Given the description of an element on the screen output the (x, y) to click on. 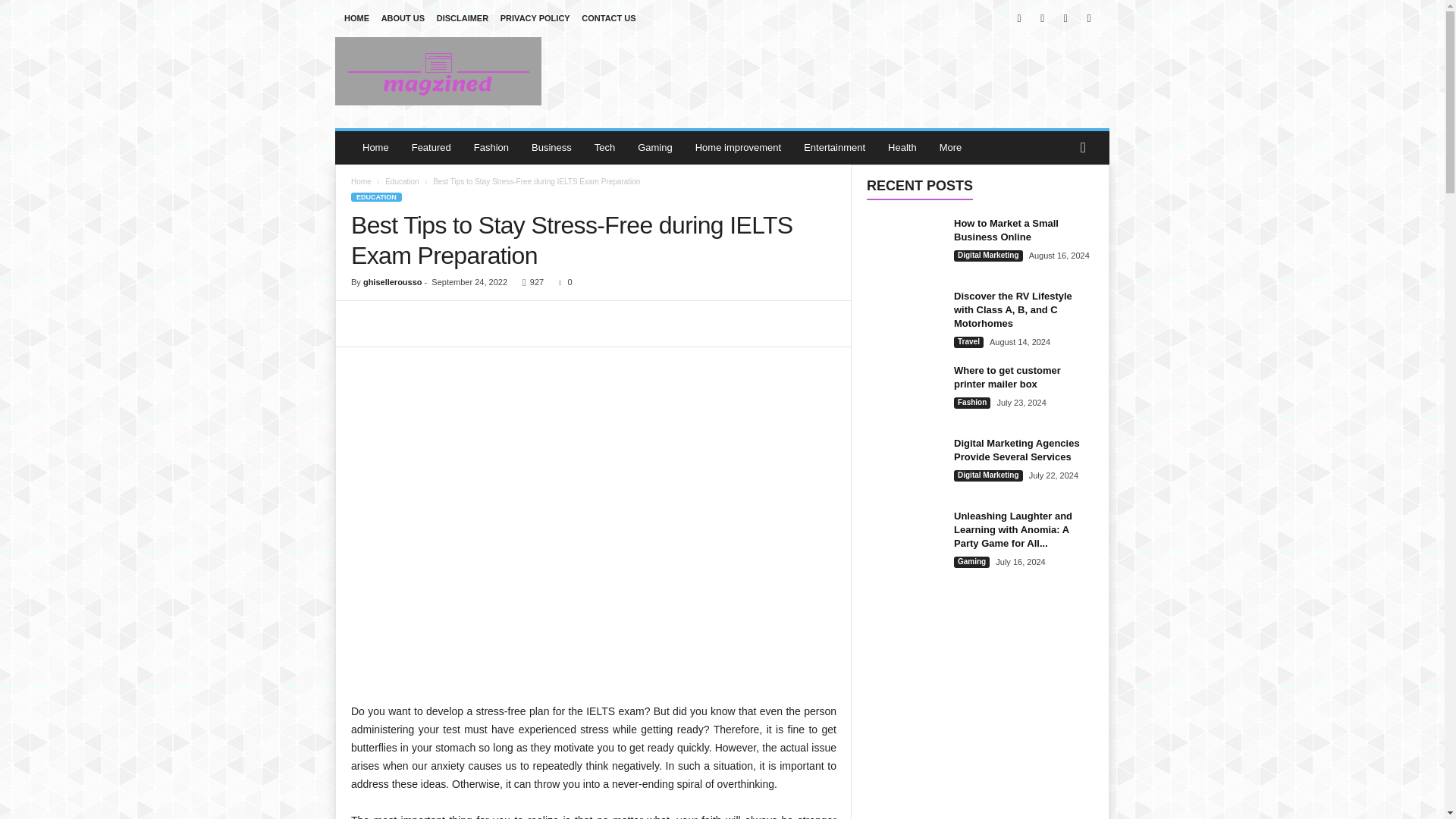
ABOUT US (403, 17)
Home (375, 147)
View all posts in Education (402, 181)
Magzined (437, 70)
DISCLAIMER (461, 17)
PRIVACY POLICY (535, 17)
HOME (356, 17)
CONTACT US (607, 17)
